Given the description of an element on the screen output the (x, y) to click on. 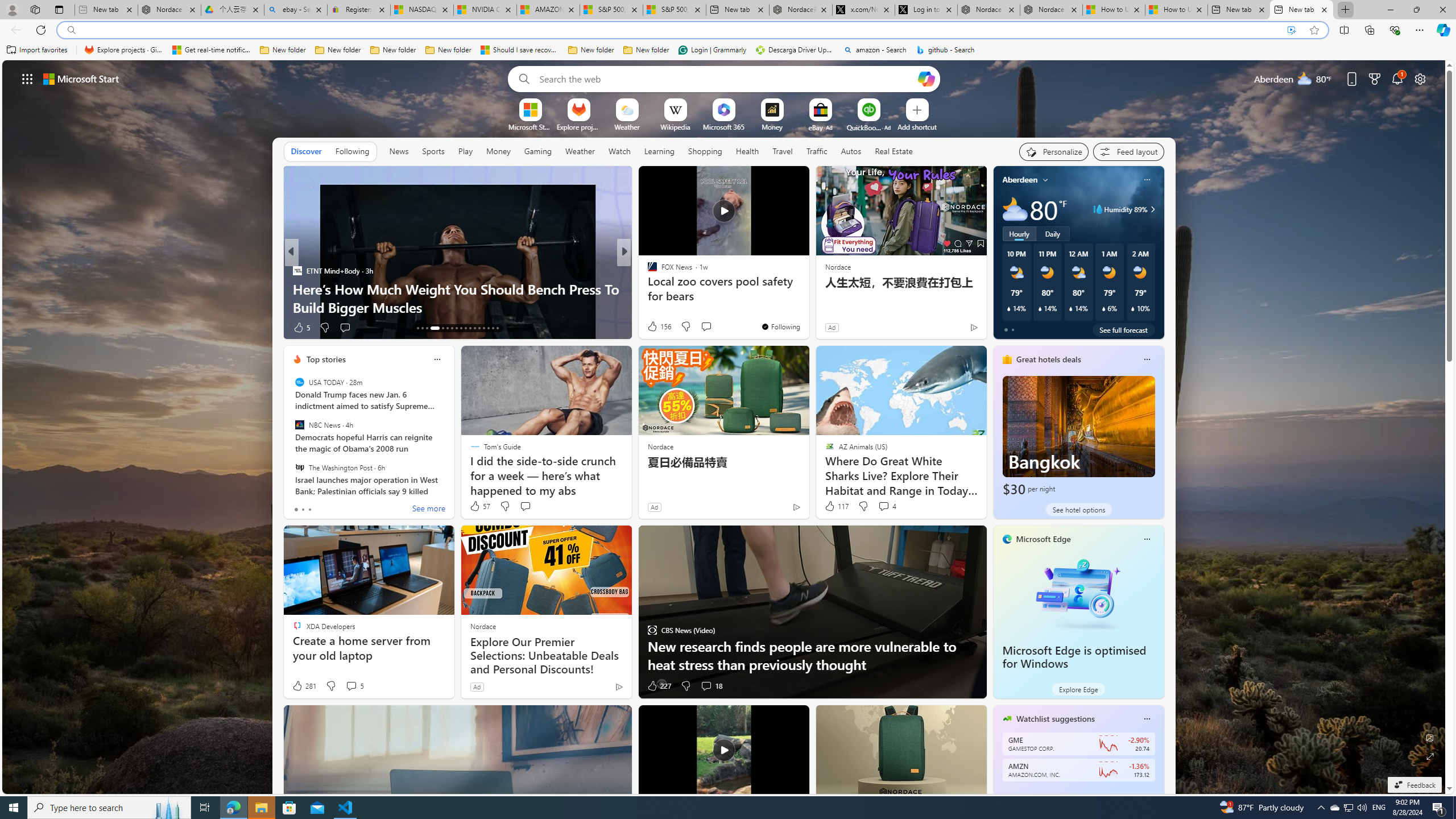
AutomationID: tab-24 (474, 328)
AutomationID: tab-29 (497, 328)
The Washington Post (299, 466)
Class: control (27, 78)
View comments 1 Comment (698, 327)
8 Reasons Why I Don't Go Outside (807, 307)
Microsoft Edge (1043, 538)
Windows Central (647, 270)
View comments 1 Comment (702, 327)
Personalize your feed" (1054, 151)
